Given the description of an element on the screen output the (x, y) to click on. 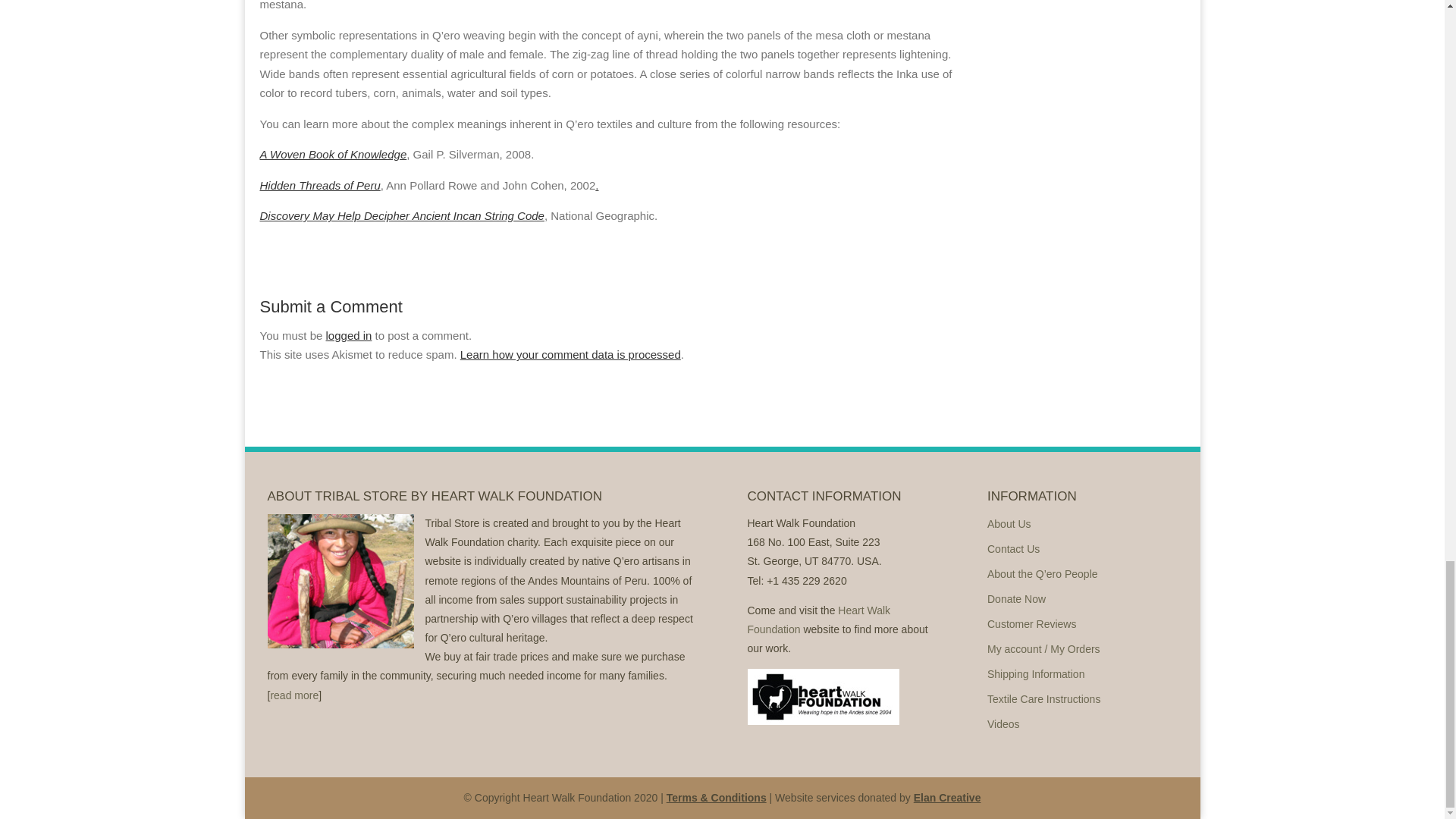
read more (293, 695)
logged in (349, 335)
Discovery May Help Decipher Ancient Incan String Code (401, 215)
A Woven Book of Knowledge (332, 154)
Hidden Threads of Peru (319, 185)
Learn how your comment data is processed (570, 354)
Heart Walk Foundation (819, 619)
